Given the description of an element on the screen output the (x, y) to click on. 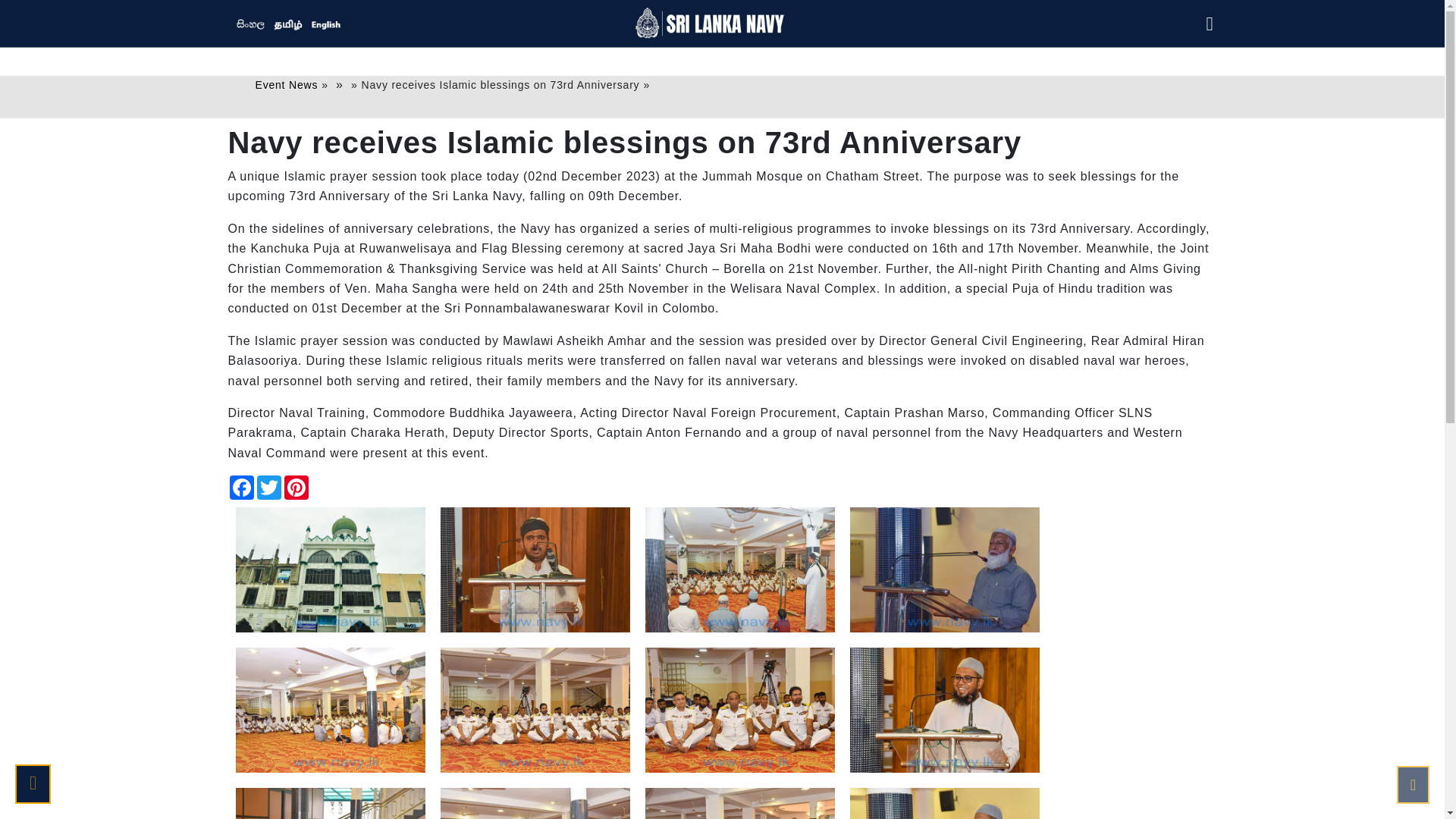
Twitter (268, 487)
Facebook (240, 487)
Event News (285, 84)
Pinterest (295, 487)
